Given the description of an element on the screen output the (x, y) to click on. 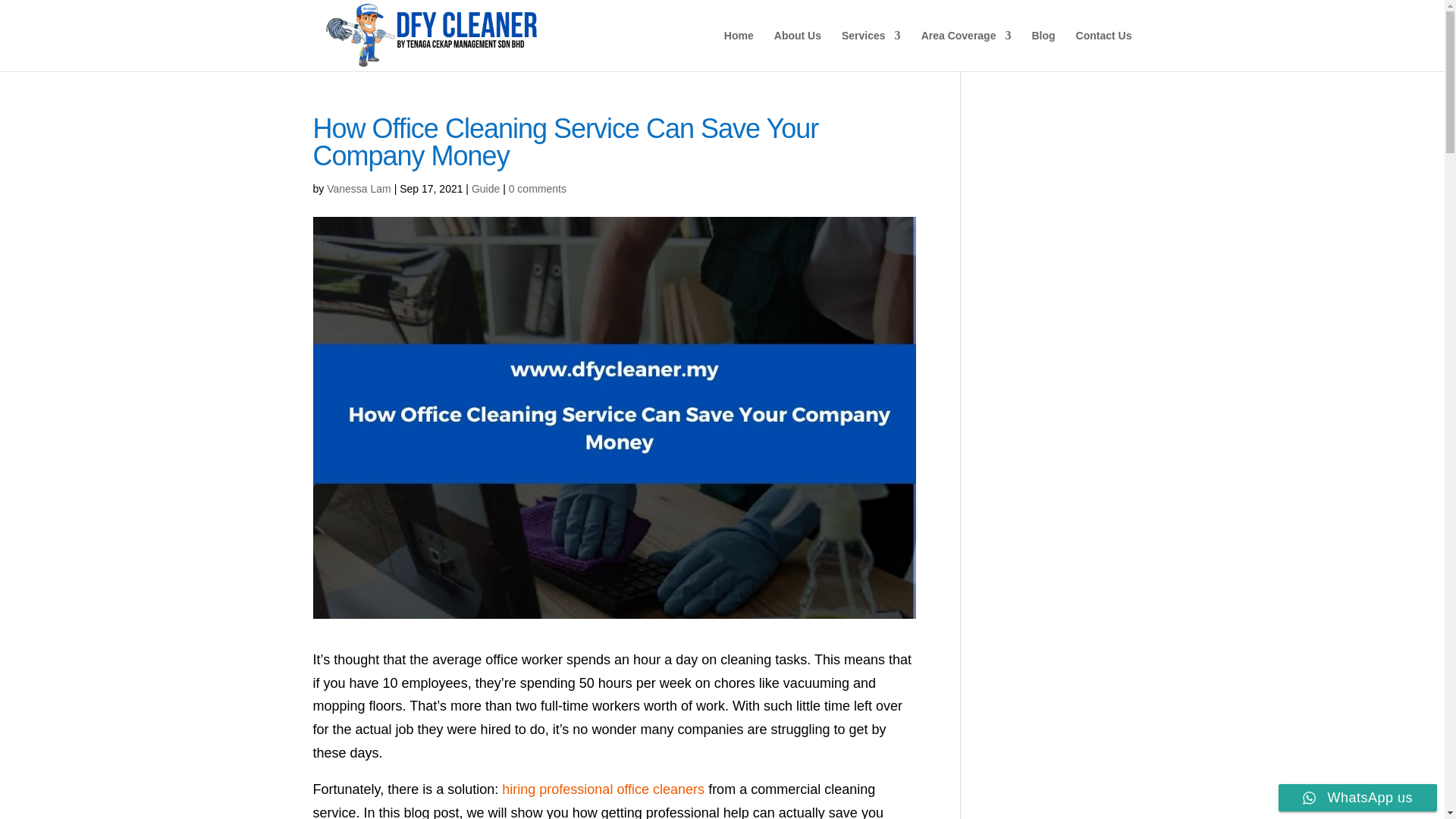
Services (871, 50)
Posts by Vanessa Lam (358, 188)
Area Coverage (966, 50)
Contact Us (1103, 50)
About Us (797, 50)
